Given the description of an element on the screen output the (x, y) to click on. 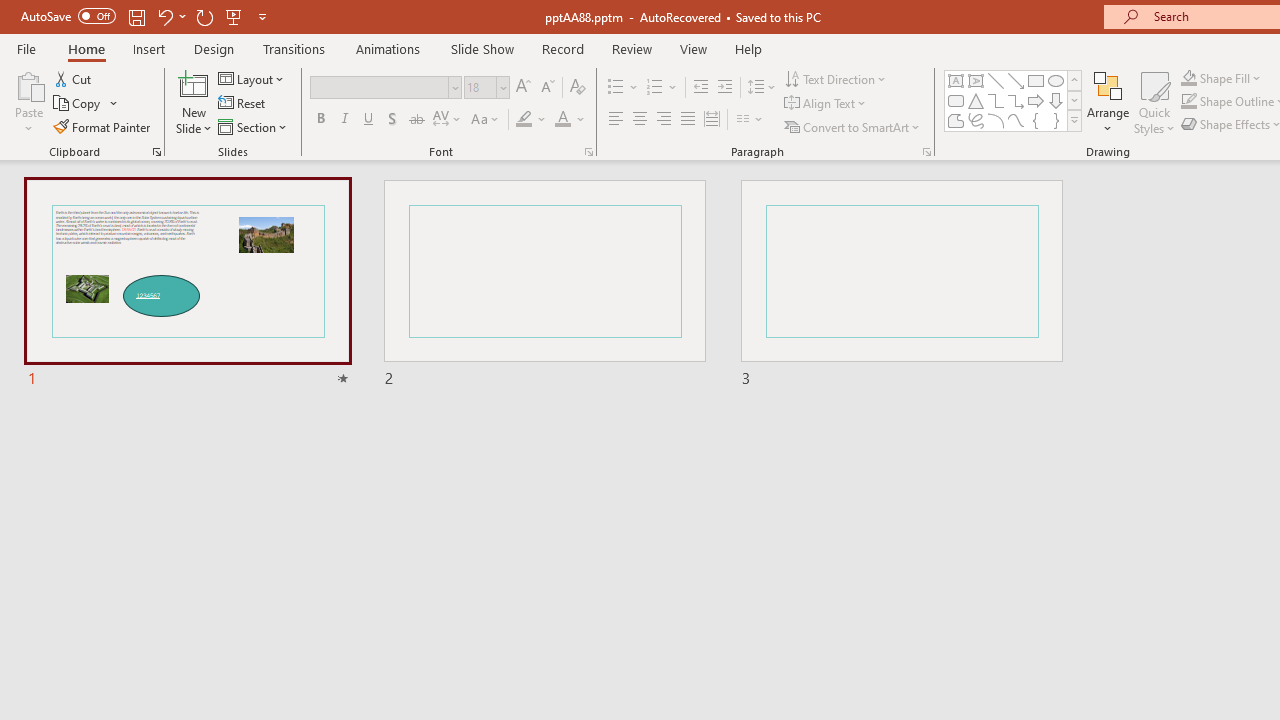
Connector: Elbow (995, 100)
Center (639, 119)
Font Size (486, 87)
Row Down (1074, 100)
Align Text (826, 103)
Row up (1074, 79)
Line Arrow (1016, 80)
Rectangle: Rounded Corners (955, 100)
Numbering (661, 87)
Layout (252, 78)
Clear Formatting (577, 87)
Connector: Elbow Arrow (1016, 100)
Distributed (712, 119)
Strikethrough (416, 119)
